Given the description of an element on the screen output the (x, y) to click on. 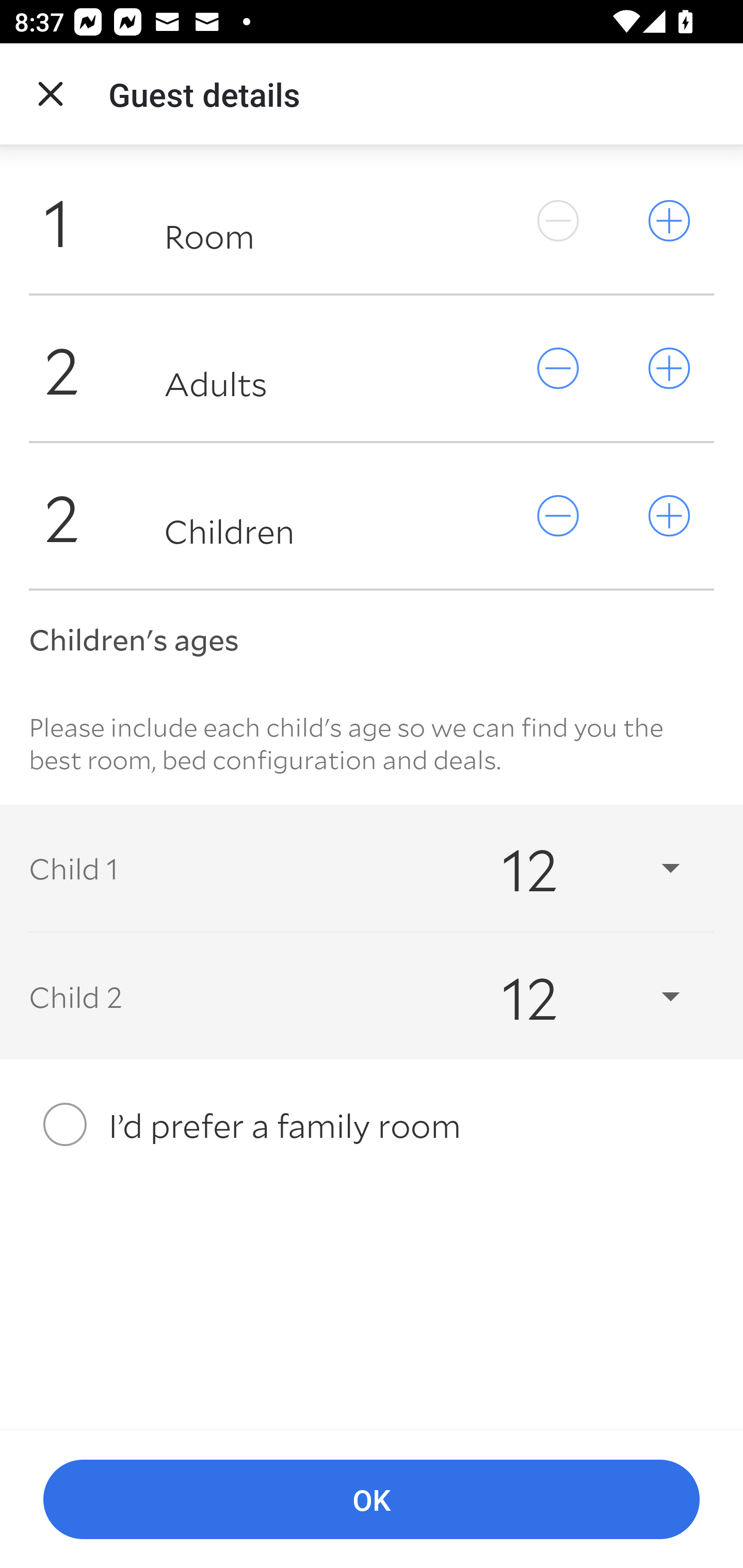
12 (573, 867)
12 (573, 996)
I’d prefer a family room (371, 1124)
OK (371, 1499)
